Given the description of an element on the screen output the (x, y) to click on. 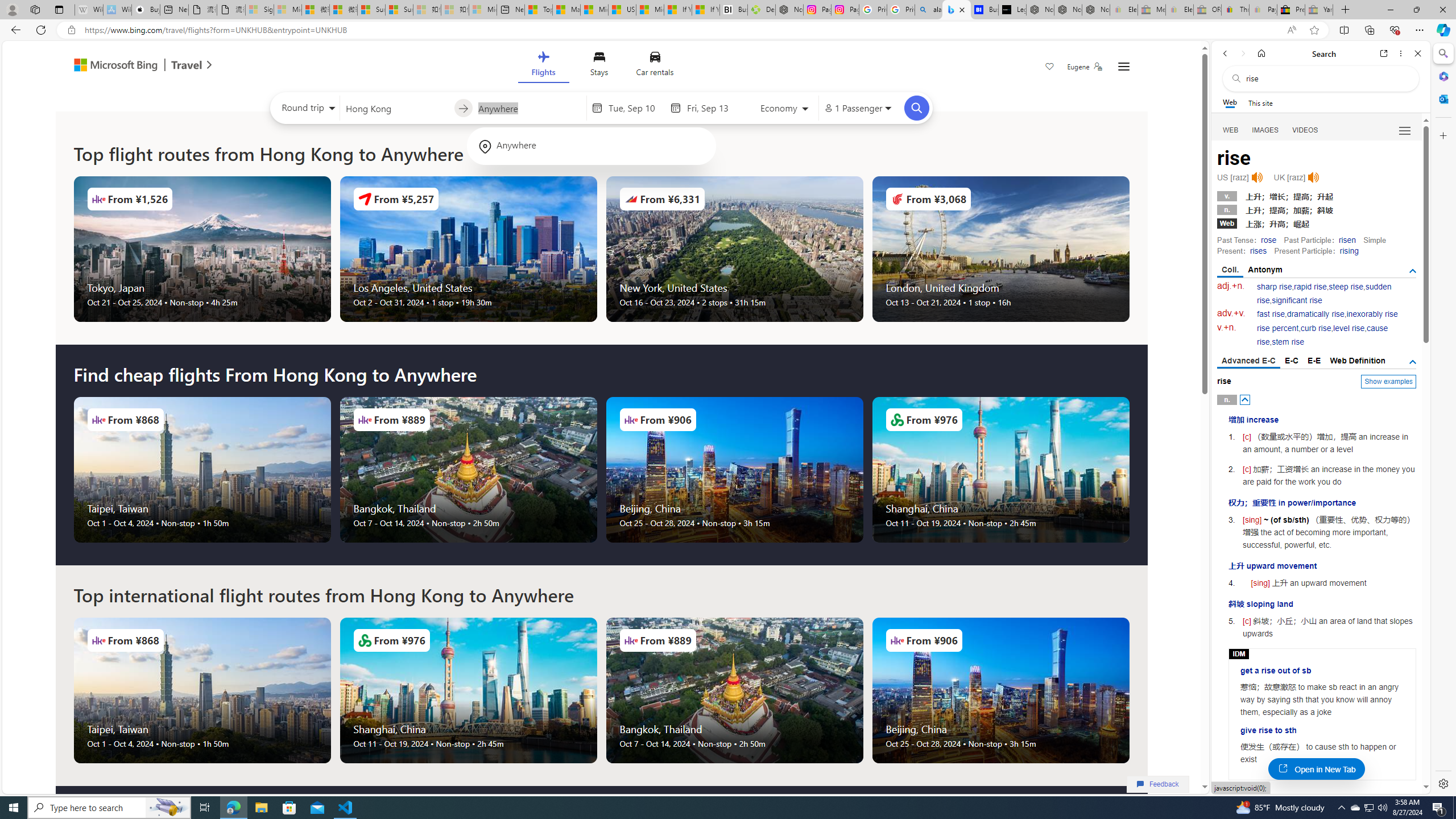
steep rise (1345, 286)
Web Definition (1357, 360)
to (462, 108)
Flights (542, 65)
rapid rise (1310, 286)
curb rise (1315, 328)
Top Stories - MSN (538, 9)
Click to listen (1313, 177)
Press Room - eBay Inc. (1291, 9)
Preferences (1403, 129)
